Given the description of an element on the screen output the (x, y) to click on. 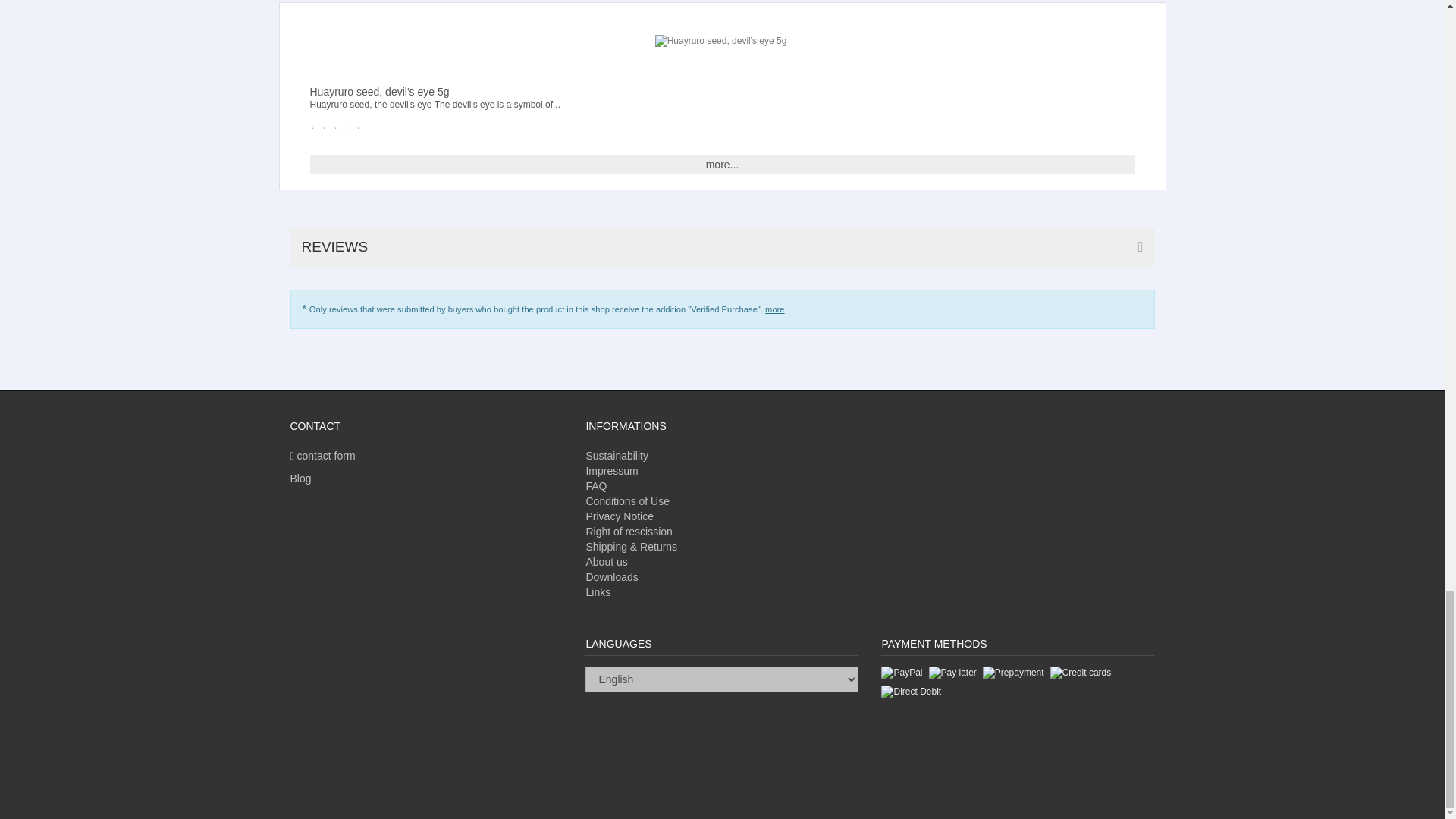
Huayruro seed, devil's eye 5g (721, 41)
PayPal (900, 672)
